Given the description of an element on the screen output the (x, y) to click on. 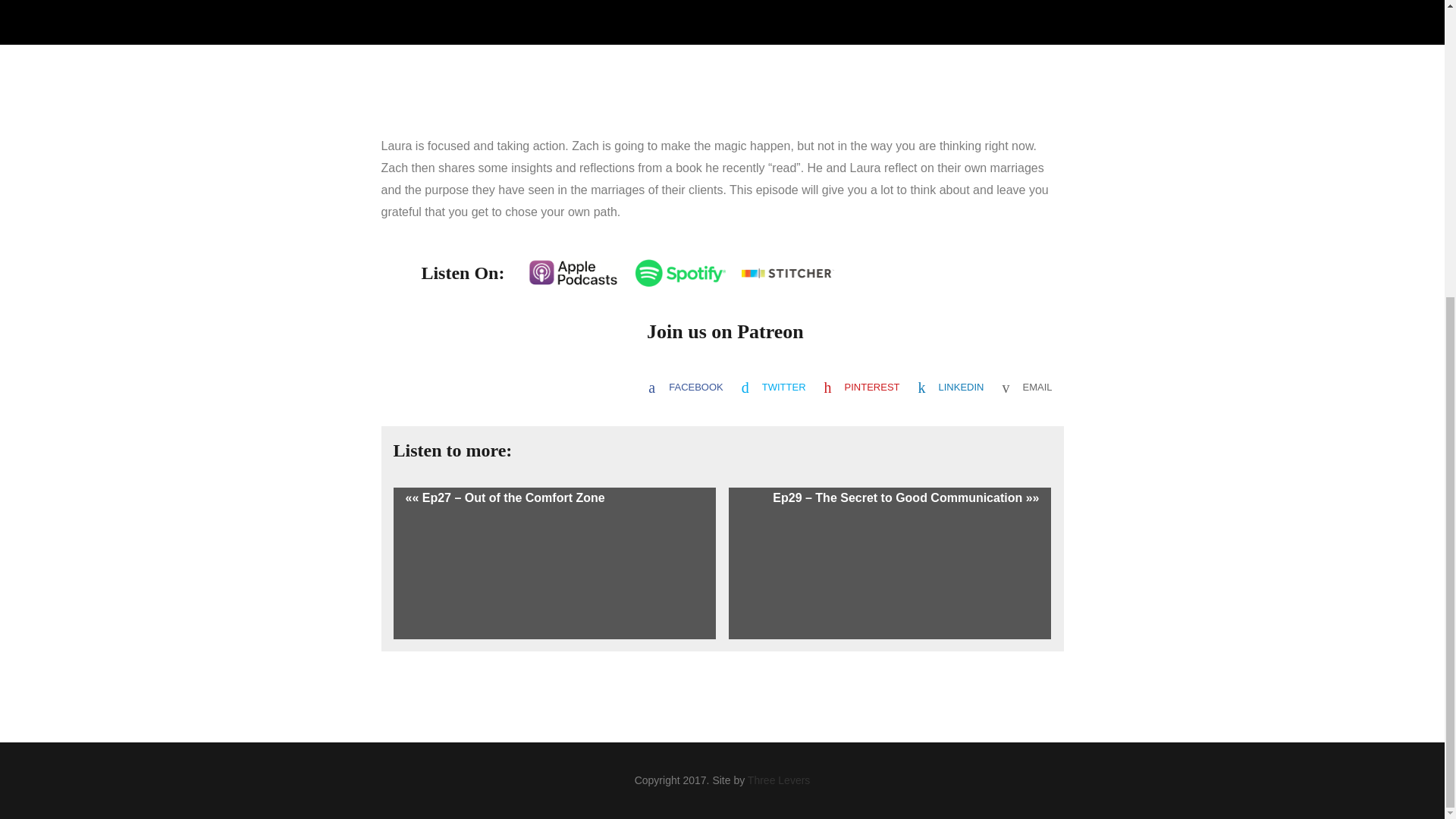
FACEBOOK (686, 386)
PINTEREST (861, 386)
EMAIL (1026, 386)
TWITTER (774, 386)
LINKEDIN (951, 386)
